Given the description of an element on the screen output the (x, y) to click on. 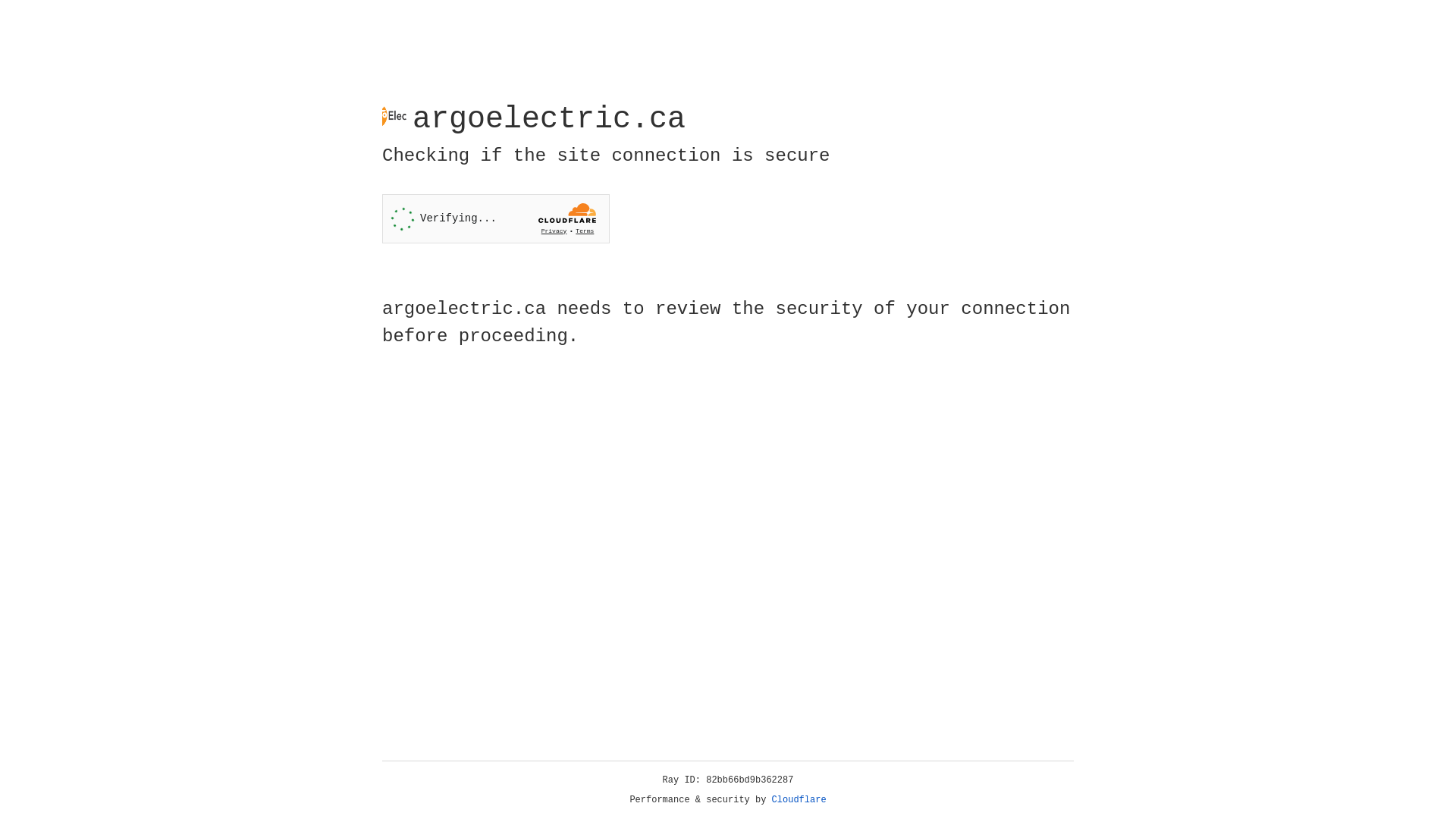
Widget containing a Cloudflare security challenge Element type: hover (495, 218)
Cloudflare Element type: text (798, 799)
